Given the description of an element on the screen output the (x, y) to click on. 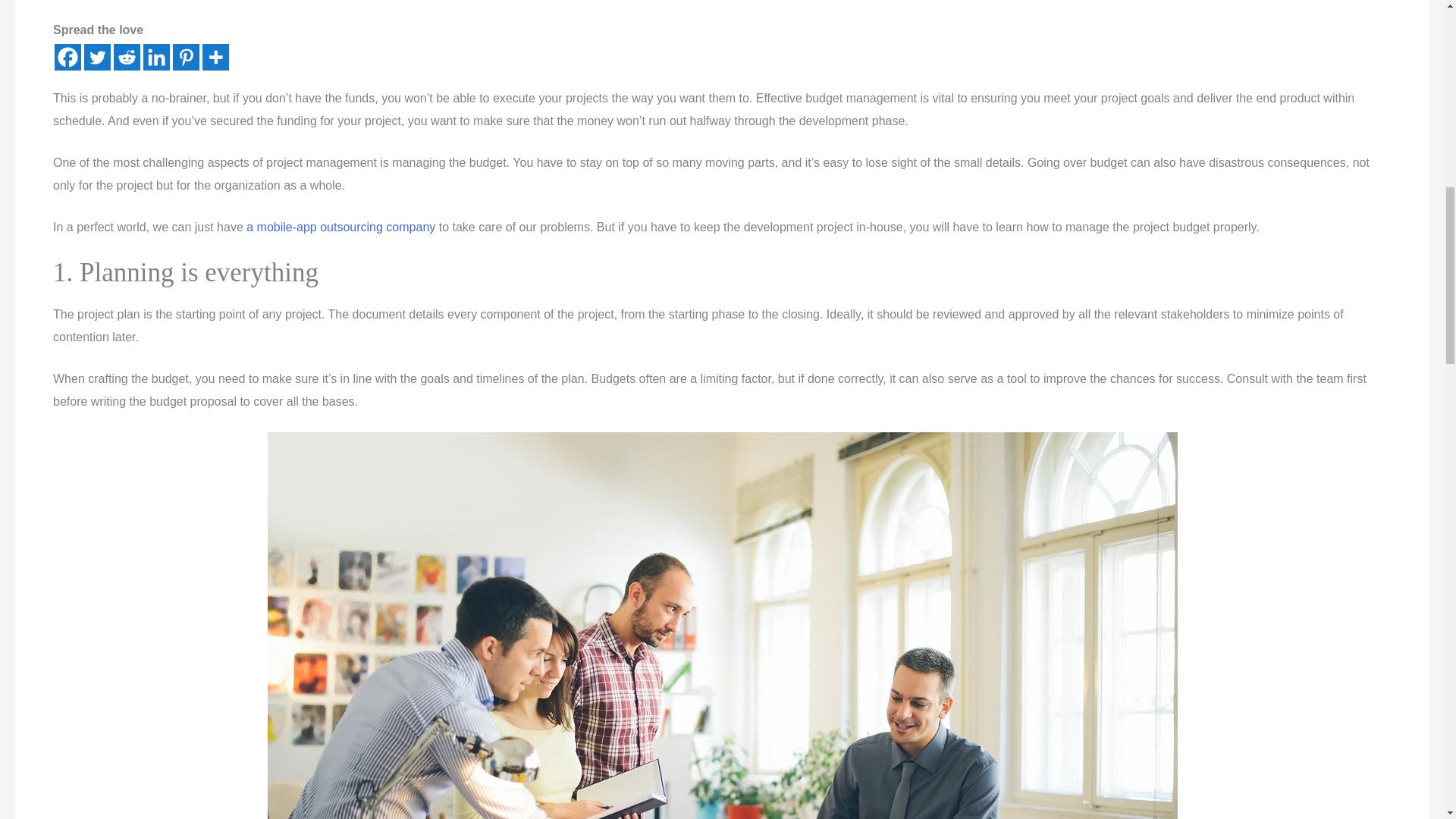
Facebook (68, 57)
More (215, 57)
365 Outsource (340, 226)
Reddit (126, 57)
Twitter (97, 57)
Linkedin (156, 57)
a mobile-app outsourcing company (340, 226)
Pinterest (186, 57)
